Given the description of an element on the screen output the (x, y) to click on. 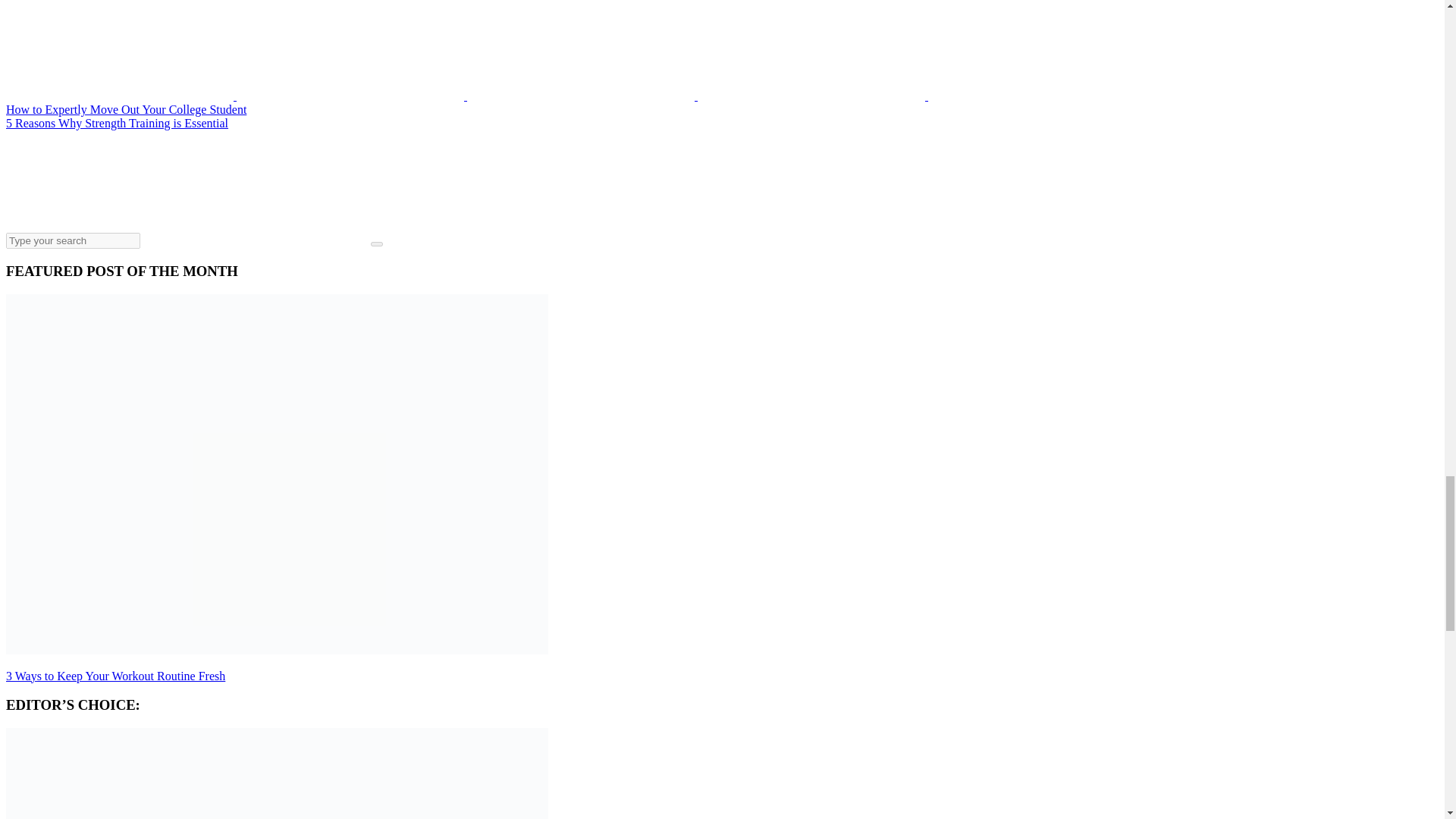
Share on Twitter (120, 95)
Share on Facebook (351, 95)
